Given the description of an element on the screen output the (x, y) to click on. 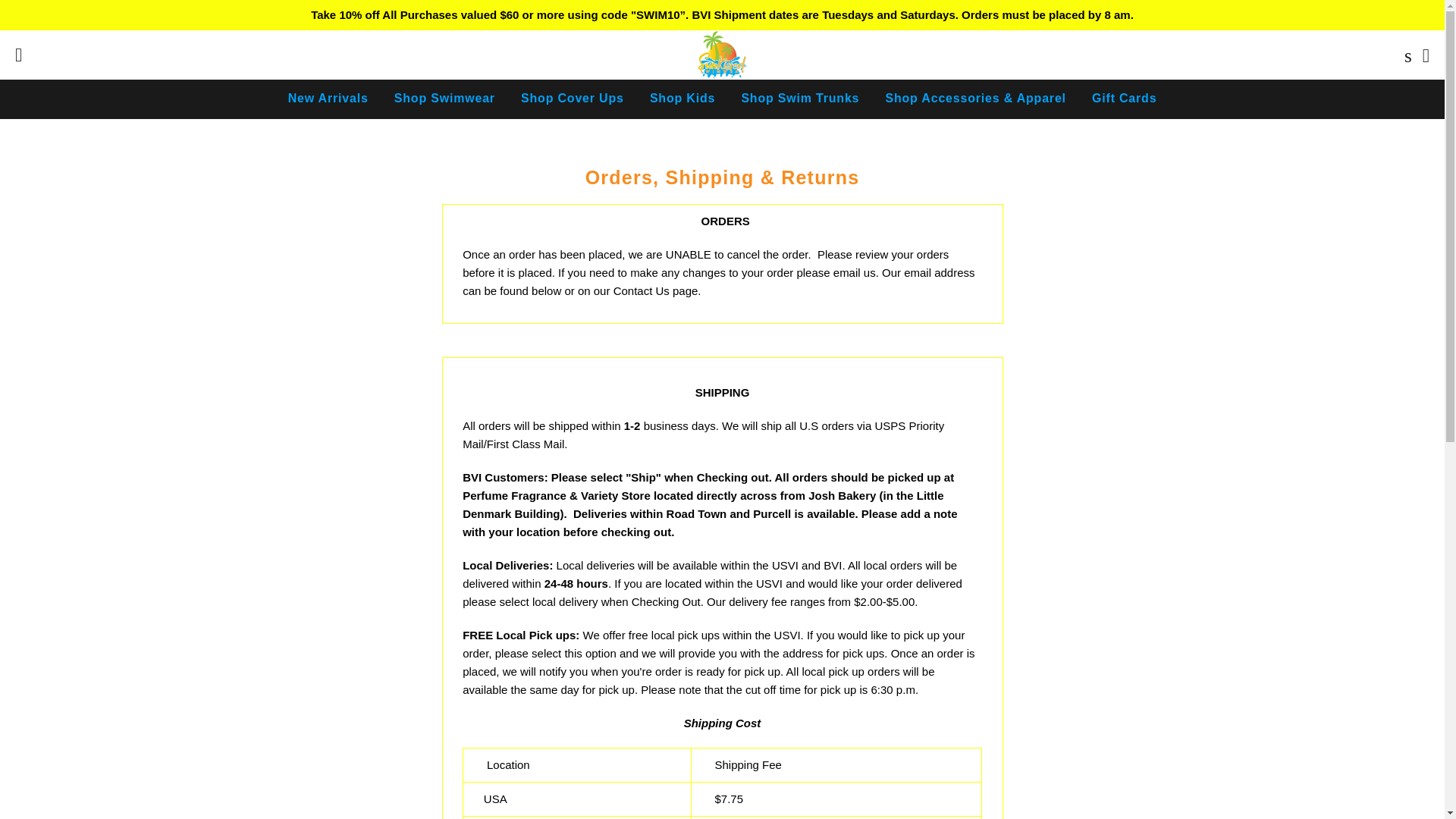
Cart (1426, 53)
Shop Cover Ups (571, 98)
Search (1404, 53)
New Arrivals (328, 98)
Shop Swimwear (444, 98)
Menu (18, 54)
